Given the description of an element on the screen output the (x, y) to click on. 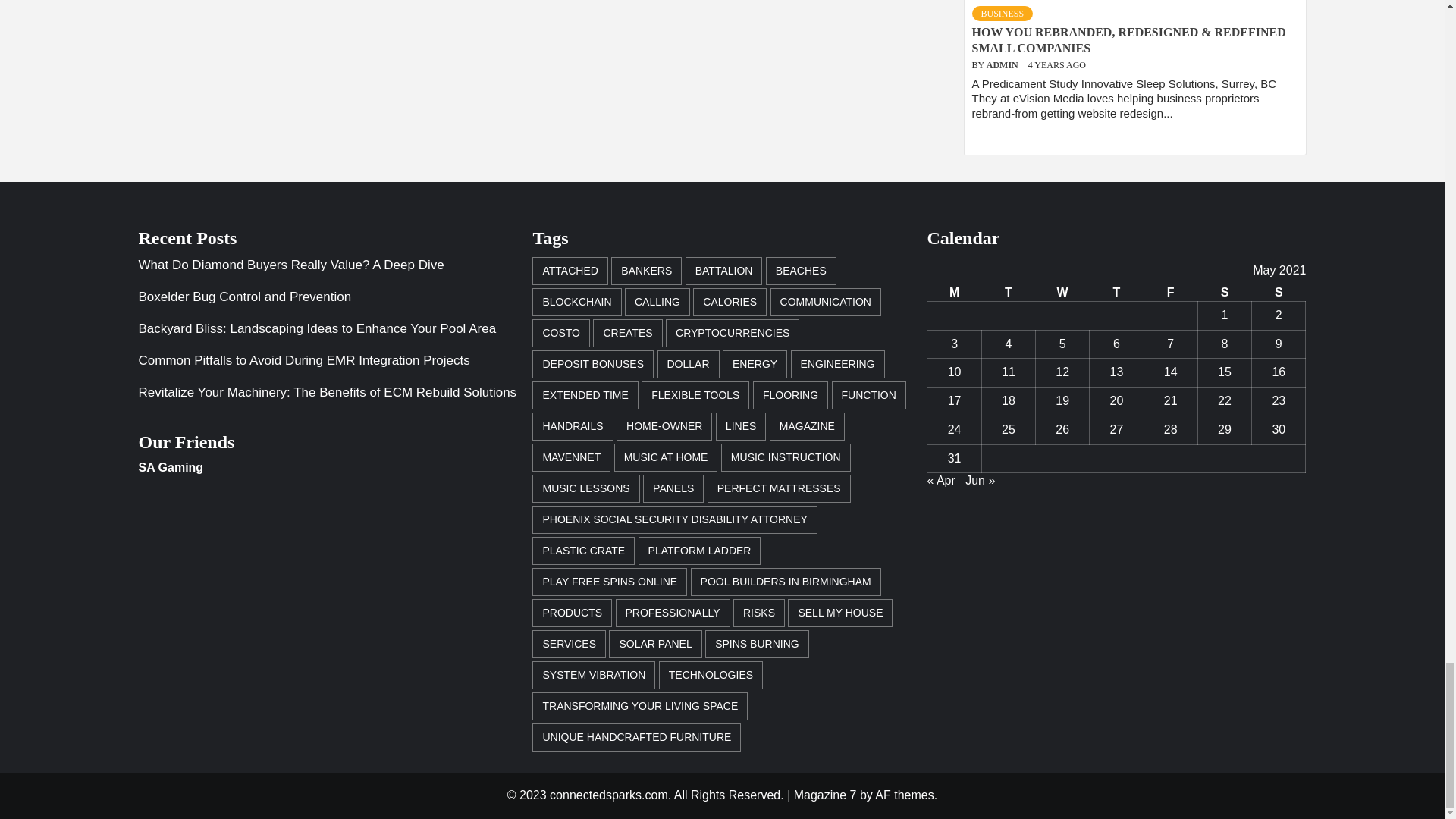
Monday (954, 293)
Saturday (1223, 293)
Tuesday (1008, 293)
Wednesday (1062, 293)
Friday (1169, 293)
Sunday (1279, 293)
Thursday (1115, 293)
